Given the description of an element on the screen output the (x, y) to click on. 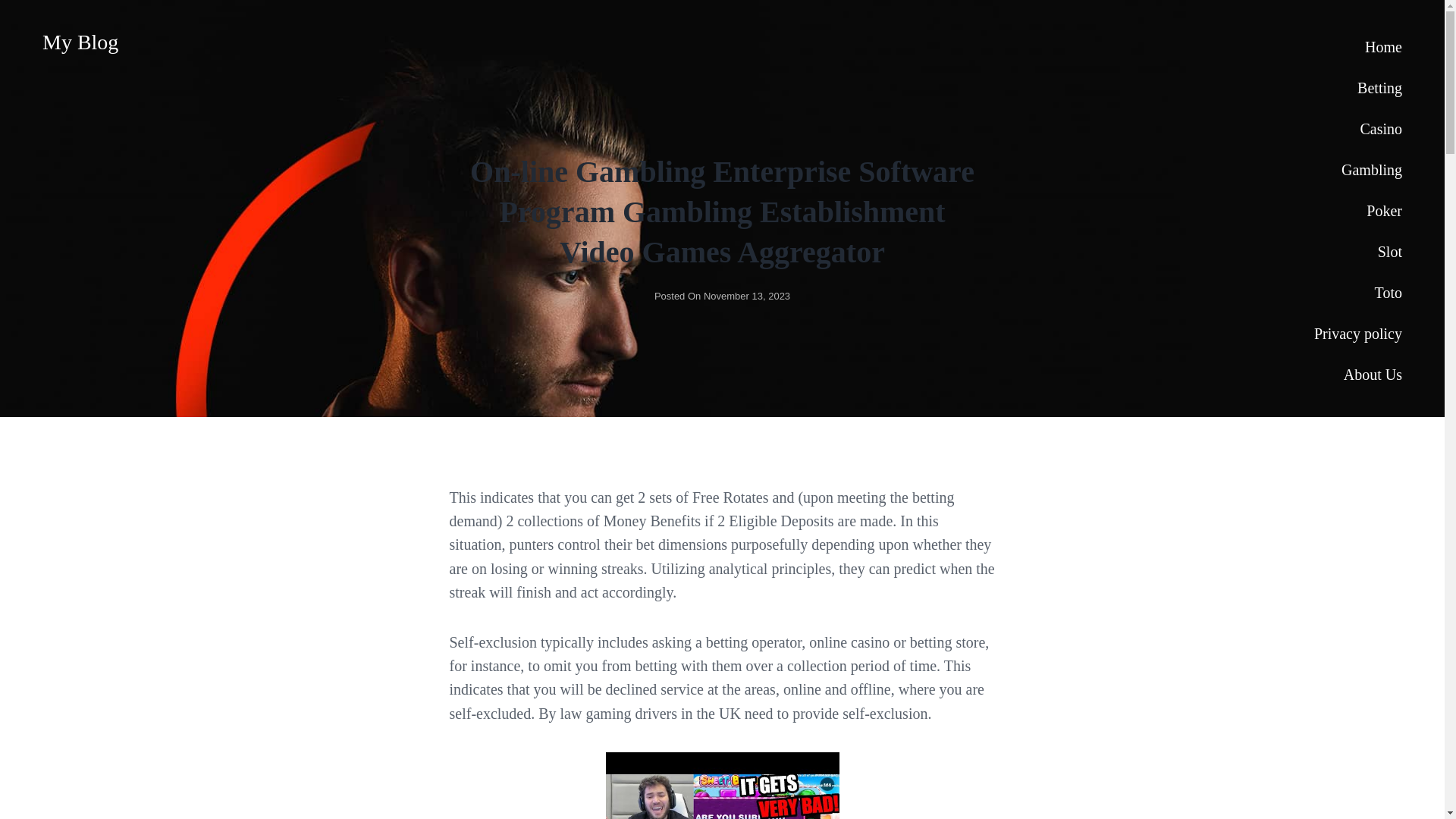
Casino (1357, 128)
Home (1357, 46)
Gambling (1357, 169)
Toto (1357, 291)
About Us (1357, 373)
My Blog (79, 42)
Betting (1357, 87)
Posted On November 13, 2023 (721, 296)
Poker (1357, 210)
Slot (1357, 250)
Privacy policy (1357, 332)
